Given the description of an element on the screen output the (x, y) to click on. 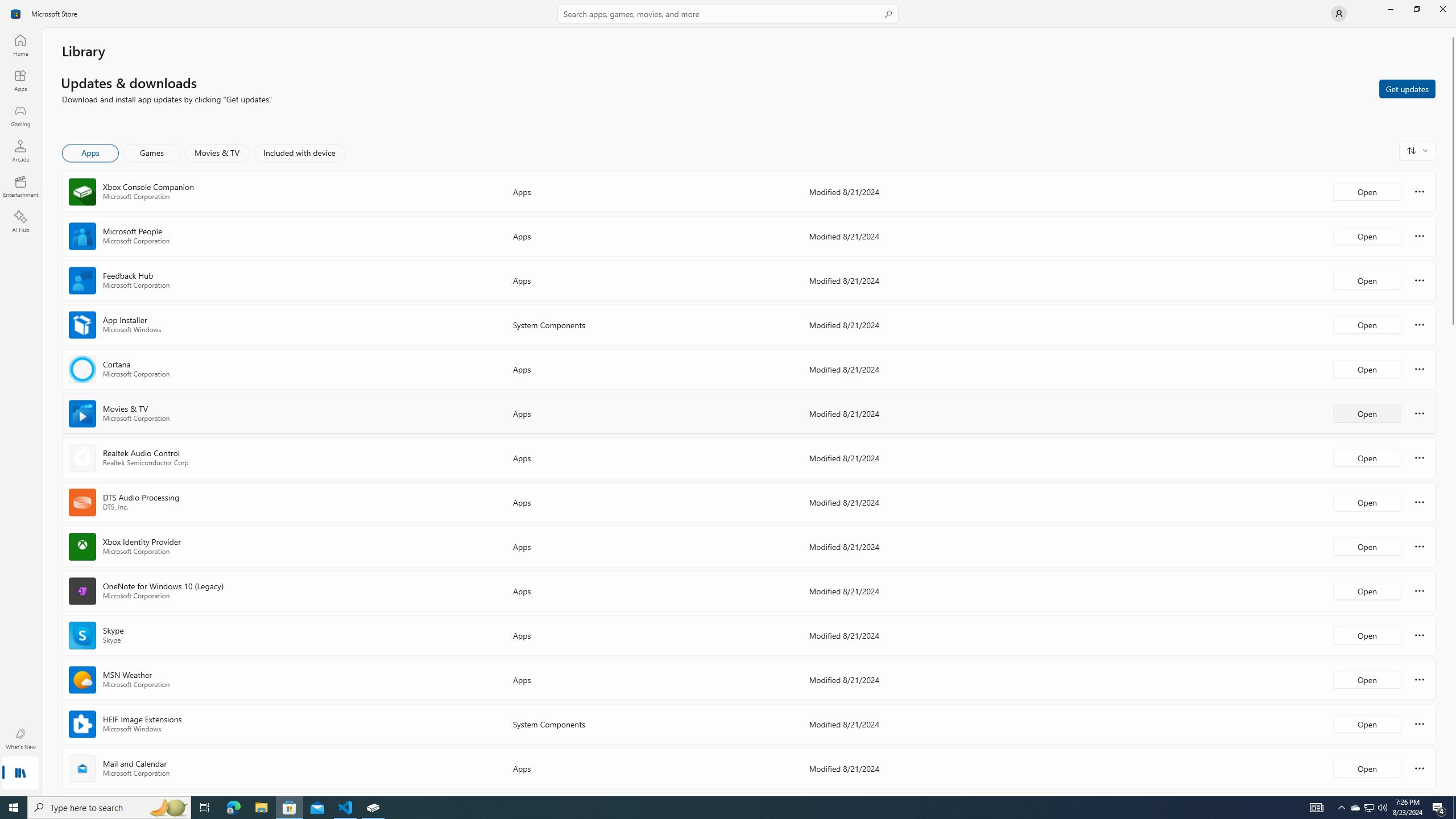
Library (20, 773)
Games (151, 153)
Apps (20, 80)
Sort and filter (1417, 149)
AutomationID: NavigationControl (728, 398)
Get updates (1406, 88)
Apps (90, 153)
What's New (20, 738)
User profile (1338, 13)
Entertainment (20, 185)
Class: Image (15, 13)
Included with device (299, 153)
